Given the description of an element on the screen output the (x, y) to click on. 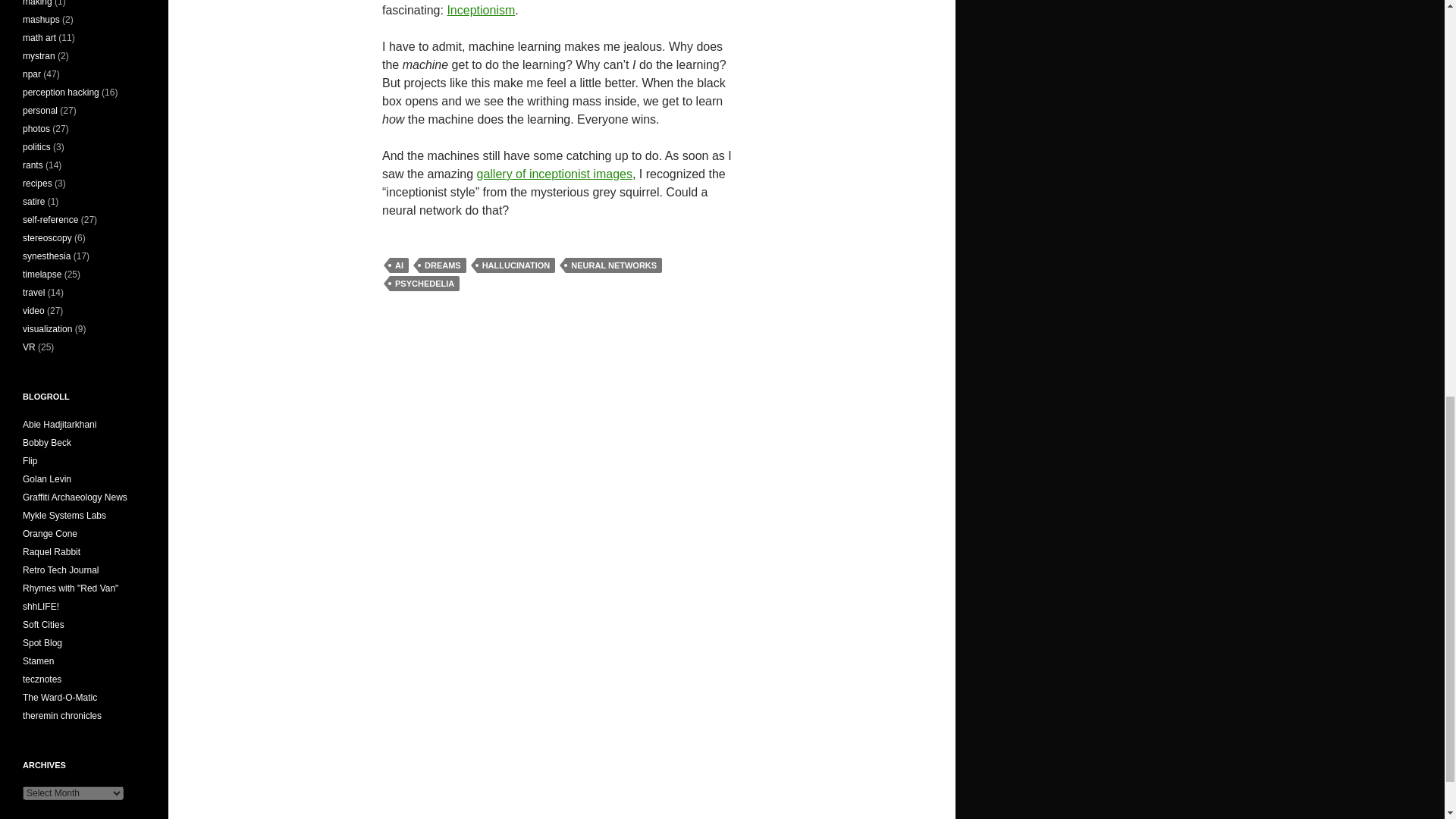
Mike Kuniavsky (50, 533)
PSYCHEDELIA (425, 283)
Boom! (47, 442)
animator Cameron Fielding (30, 460)
Kevan Shorey (70, 588)
software artist Scott Draves (42, 643)
Jason Schleifer (41, 606)
Tales of Creation and Recreation (61, 570)
self-described polymath and all around fine fellow (59, 424)
the one and only Raquel Coelho (51, 552)
